Given the description of an element on the screen output the (x, y) to click on. 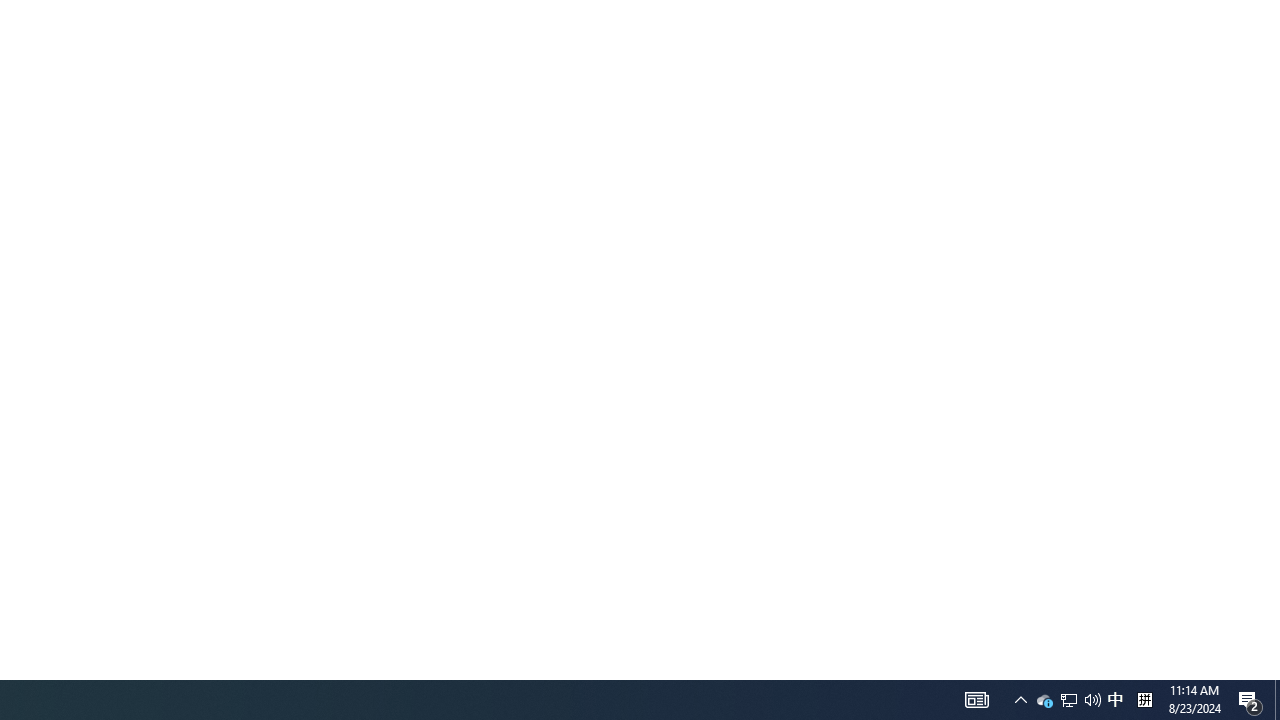
AutomationID: 4105 (976, 699)
User Promoted Notification Area (1068, 699)
Notification Chevron (1020, 699)
Tray Input Indicator - Chinese (Simplified, China) (1144, 699)
Show desktop (1277, 699)
Action Center, 2 new notifications (1250, 699)
Q2790: 100% (1115, 699)
